Given the description of an element on the screen output the (x, y) to click on. 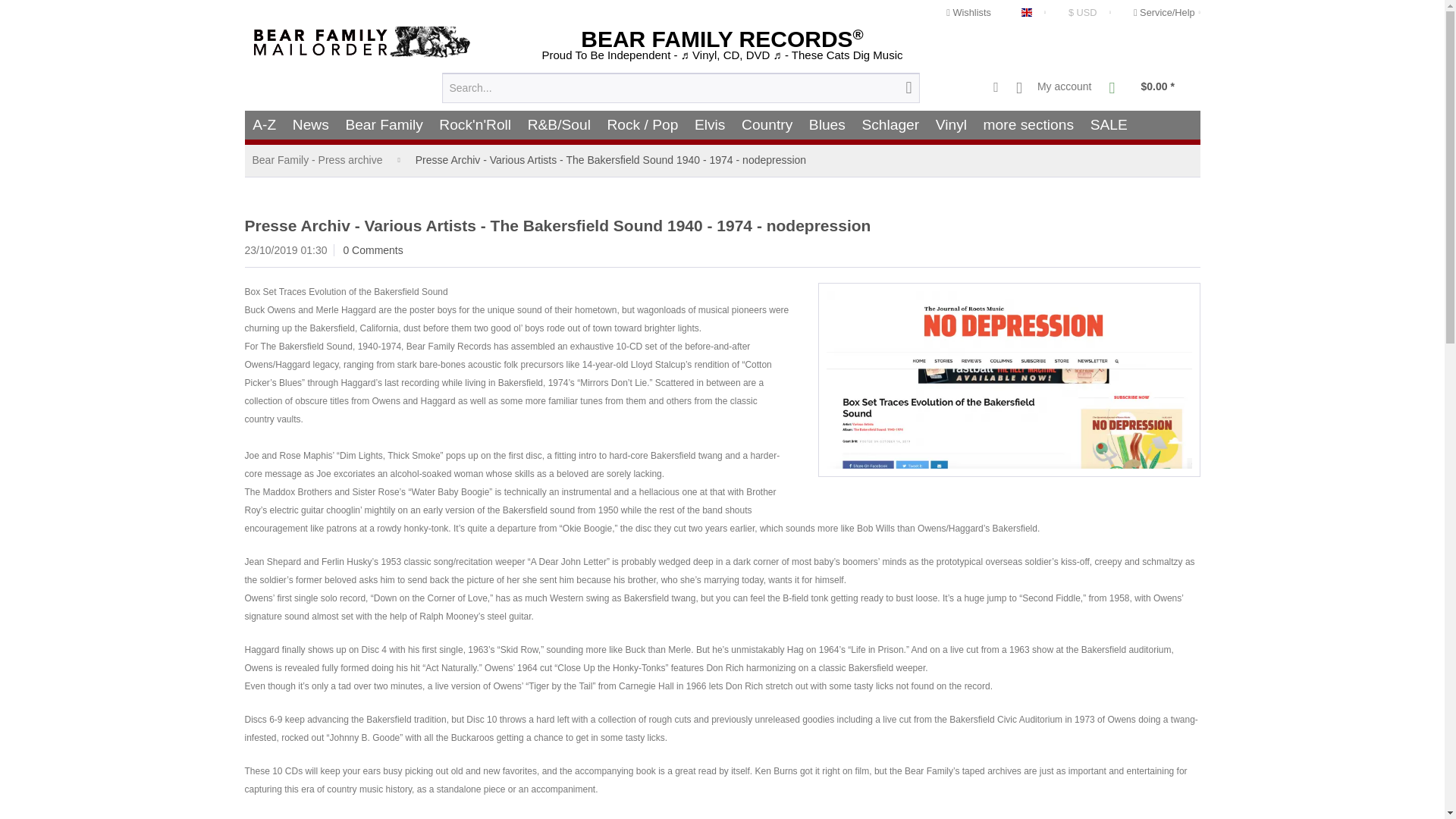
more sections (1028, 124)
A-Z (263, 124)
more sections (1028, 124)
A-Z (263, 124)
Country (766, 124)
Schlager (890, 124)
Bear Family Records - Switch to homepage (363, 41)
Bear Family (383, 124)
Elvis (709, 124)
My account (1054, 87)
SALE (1108, 124)
News (310, 124)
Wishlists (968, 12)
Vinyl (951, 124)
Rock'n'Roll (474, 124)
